Given the description of an element on the screen output the (x, y) to click on. 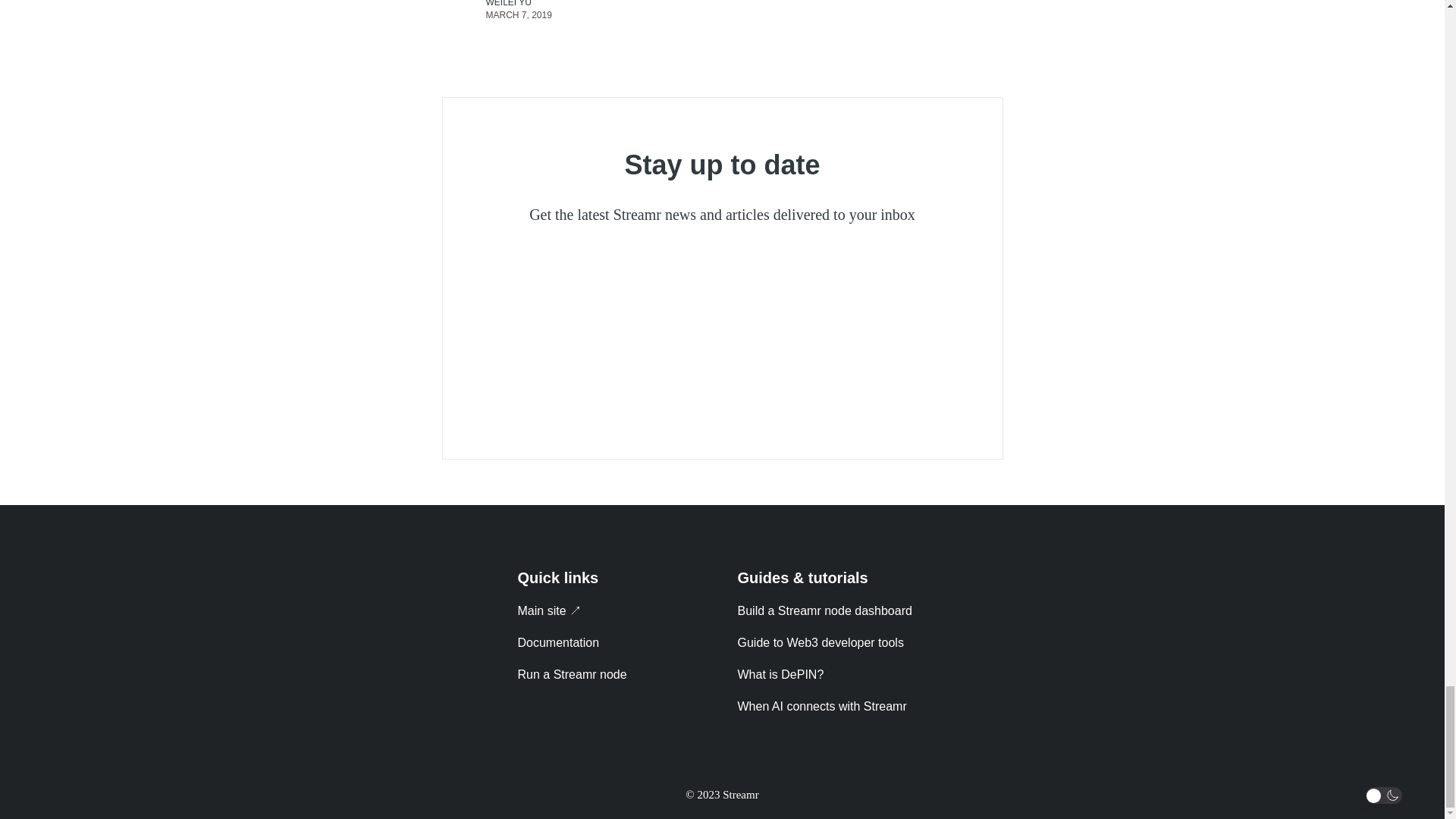
Run a Streamr node (571, 674)
When AI connects with Streamr (820, 706)
Form 0 (722, 331)
Documentation (557, 642)
Guide to Web3 developer tools (819, 642)
Build a Streamr node dashboard (823, 610)
What is DePIN? (780, 674)
